Given the description of an element on the screen output the (x, y) to click on. 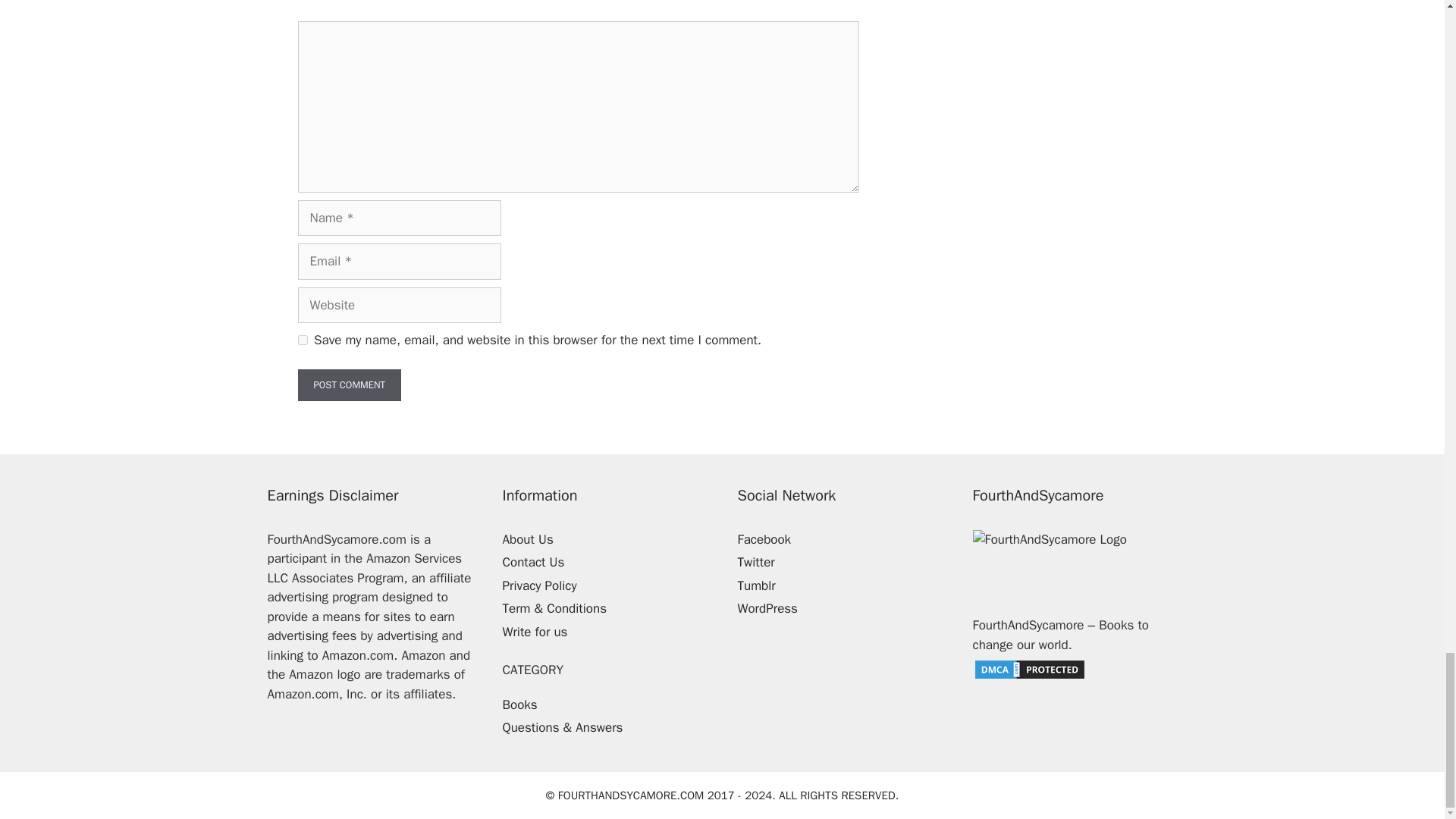
DMCA.com Protection Status (1029, 676)
yes (302, 339)
Post Comment (349, 385)
